Given the description of an element on the screen output the (x, y) to click on. 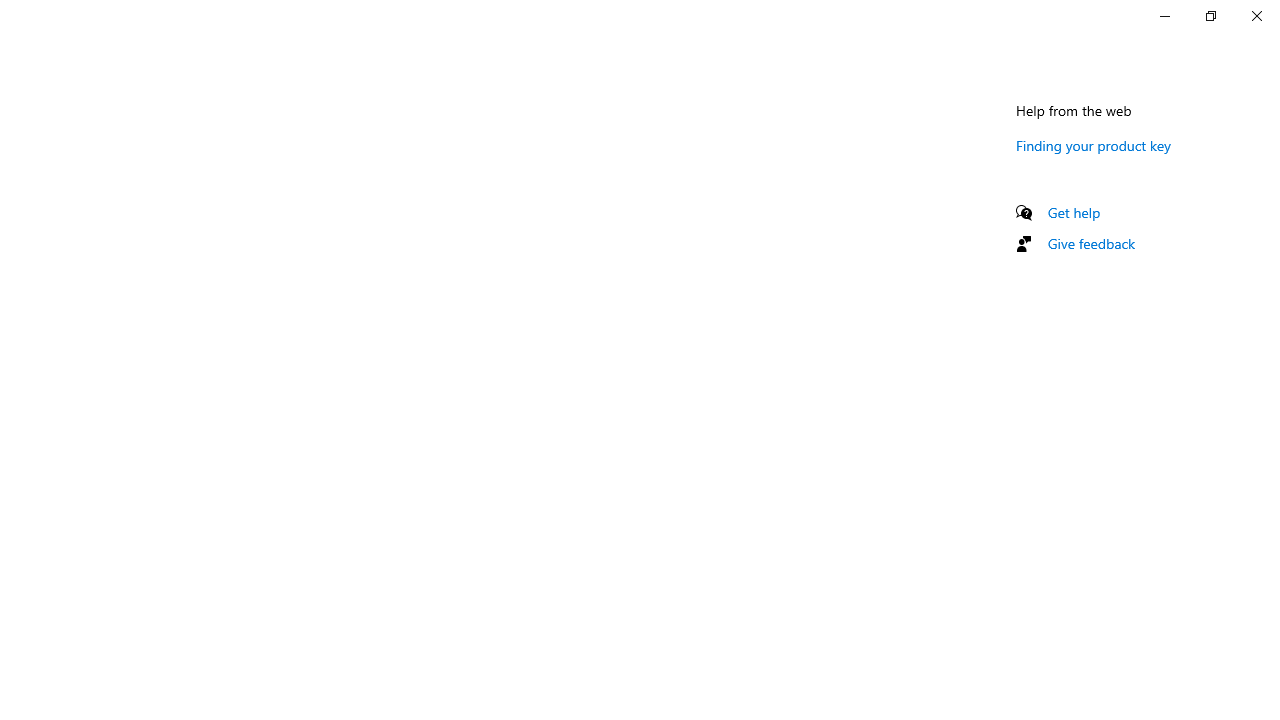
Give feedback (1091, 243)
Finding your product key (1093, 145)
